Given the description of an element on the screen output the (x, y) to click on. 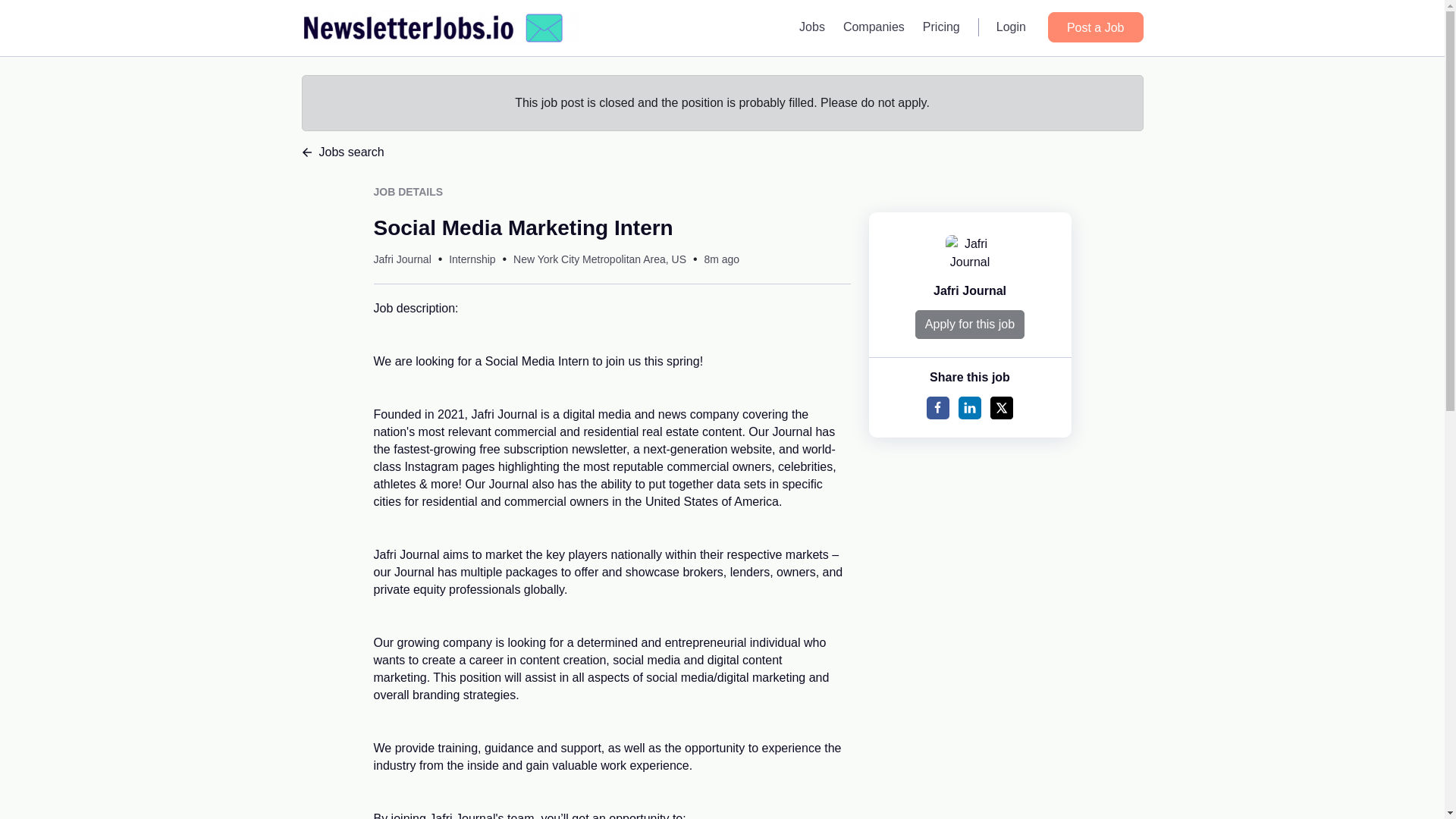
Companies (874, 26)
Post a Job (1095, 27)
Jafri Journal (401, 259)
Jafri Journal (969, 290)
Share to Linkedin (969, 407)
Jobs search (721, 152)
New York City Metropolitan Area, US (599, 259)
Login (1011, 26)
Apply for this job (970, 324)
Pricing (941, 26)
